Given the description of an element on the screen output the (x, y) to click on. 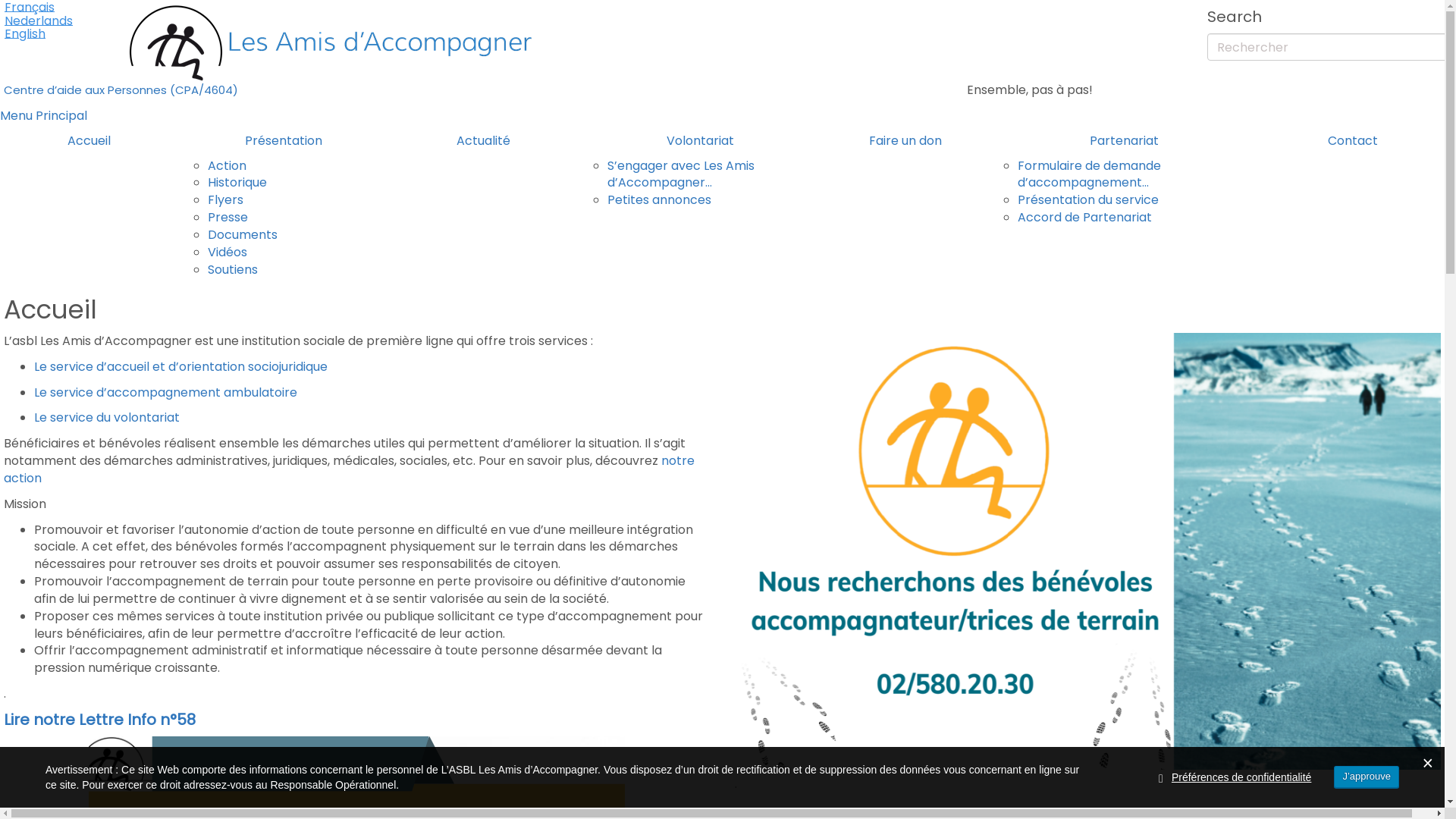
Volontariat Element type: text (700, 141)
Soutiens Element type: text (232, 269)
Faire un don Element type: text (905, 141)
Menu Principal Element type: text (43, 115)
Petites annonces Element type: text (659, 199)
Partenariat Element type: text (1123, 141)
English Element type: text (38, 33)
Presse Element type: text (227, 216)
Documents Element type: text (242, 234)
Nederlands Element type: text (38, 21)
Historique Element type: text (236, 182)
Action Element type: text (226, 165)
Accueil Element type: text (88, 141)
Contact Element type: text (1352, 141)
Accord de Partenariat Element type: text (1084, 216)
notre action Element type: text (348, 468)
Le service du volontariat Element type: text (106, 417)
Flyers Element type: text (225, 199)
